Given the description of an element on the screen output the (x, y) to click on. 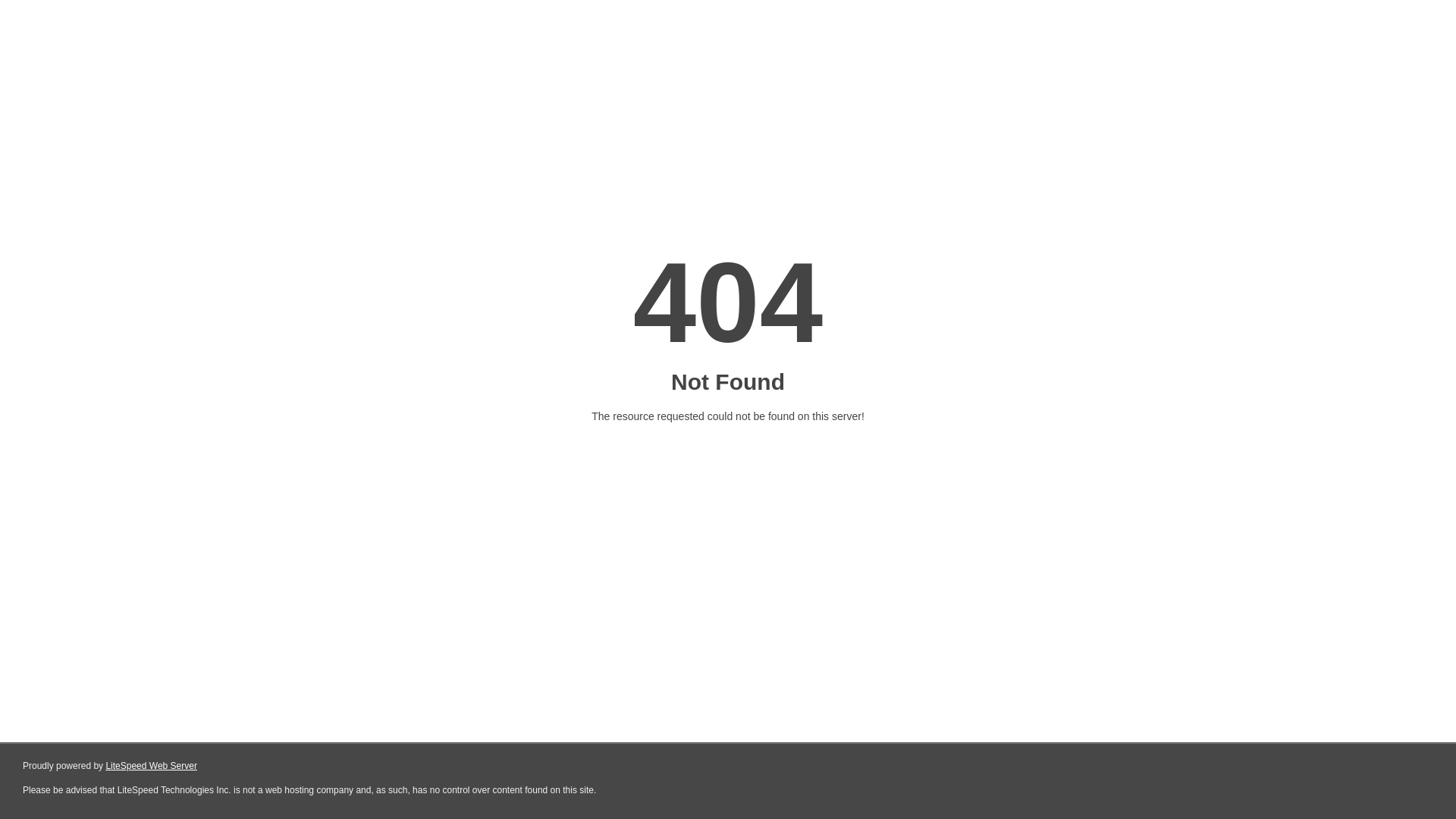
LiteSpeed Web Server Element type: text (151, 765)
